Given the description of an element on the screen output the (x, y) to click on. 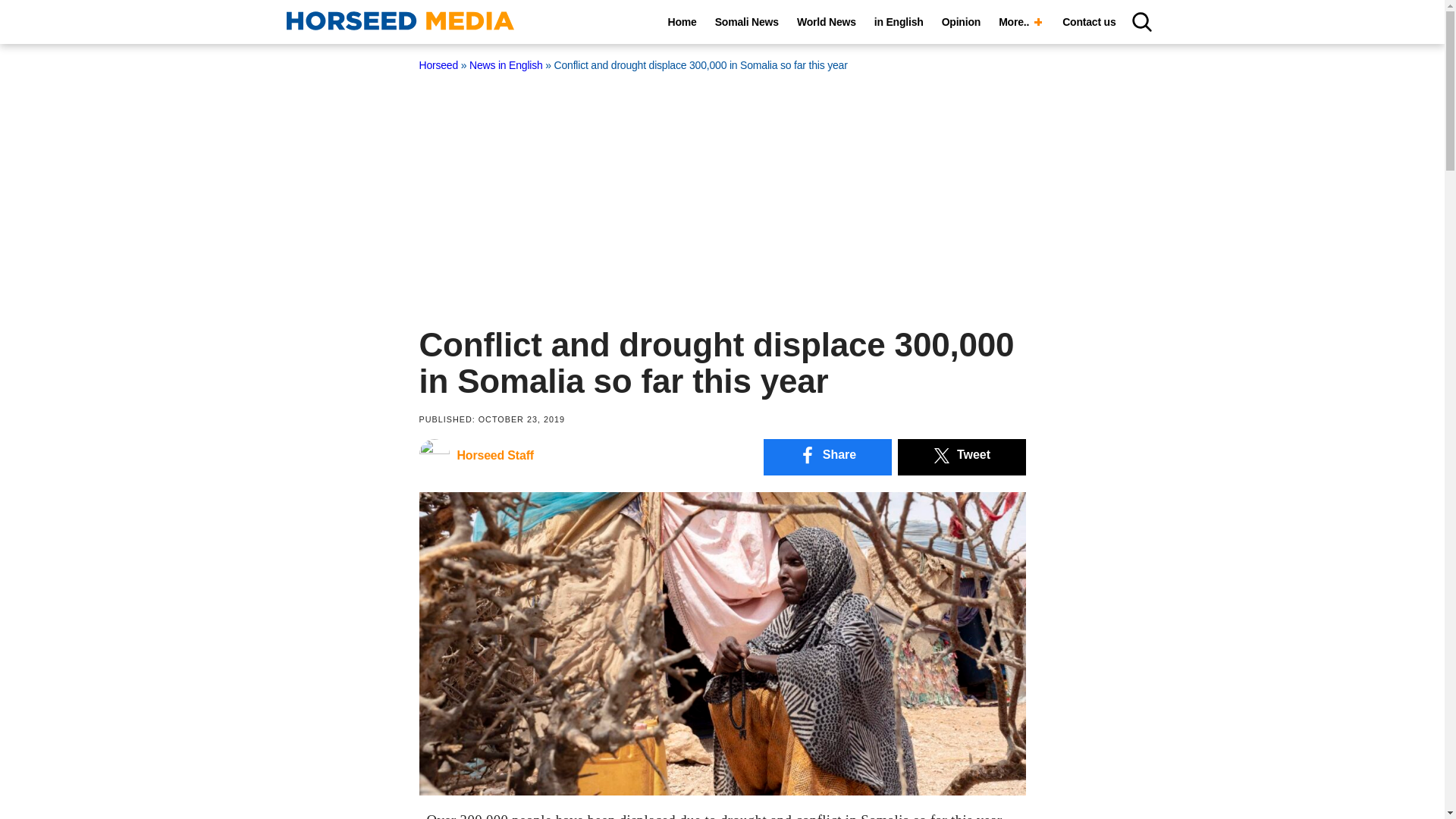
in English (898, 22)
Home (682, 22)
Horseed (438, 64)
World News (825, 22)
Share on Facebook (826, 456)
Share (826, 456)
Horseed Staff (475, 458)
Somali News (746, 22)
Tweet (962, 456)
Advertisement (722, 190)
Share on Twitter (962, 456)
More.. (1021, 22)
Opinion (961, 22)
News in English (505, 64)
Contact us (1088, 22)
